Given the description of an element on the screen output the (x, y) to click on. 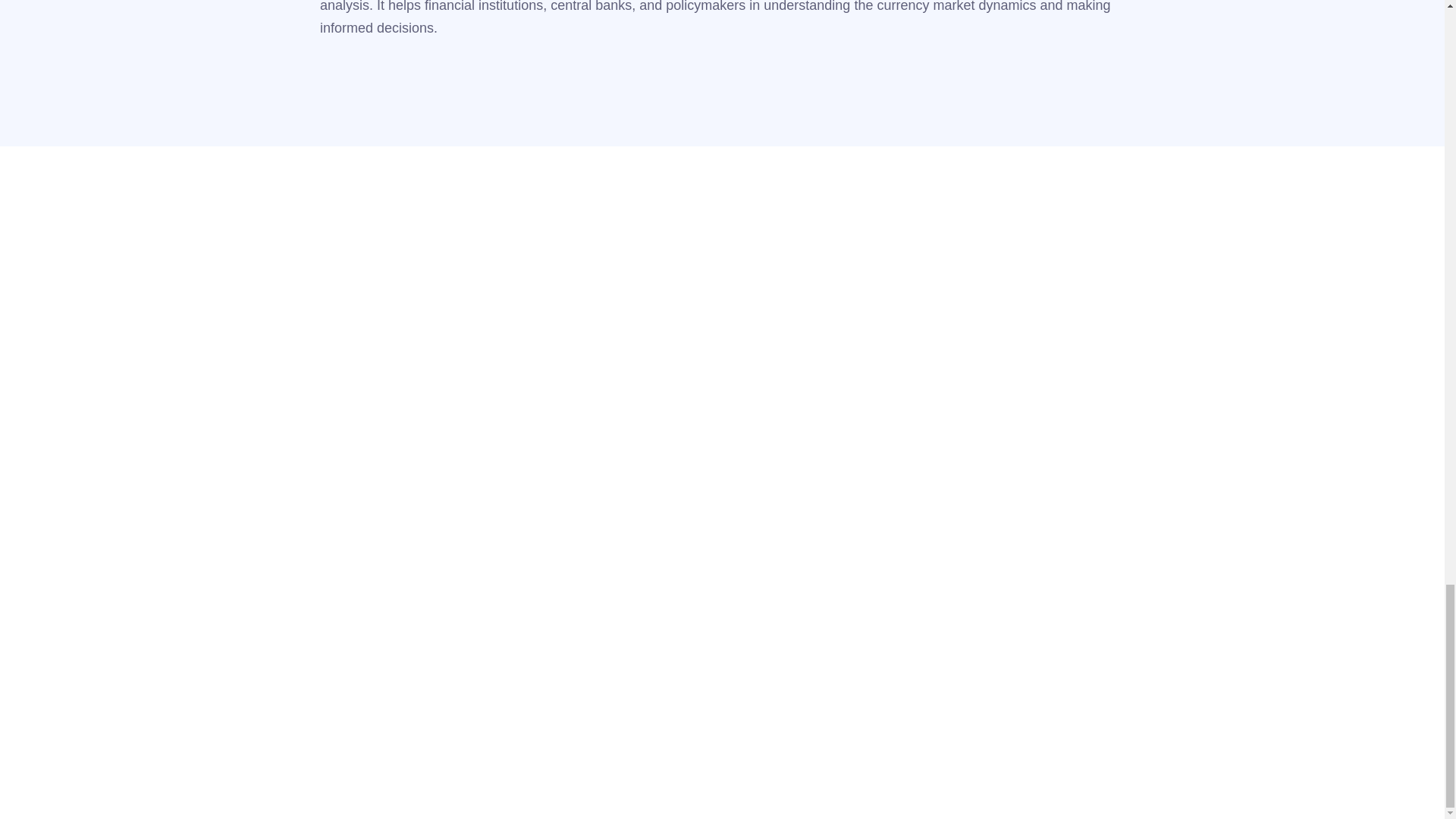
Subscribe (1110, 339)
